Given the description of an element on the screen output the (x, y) to click on. 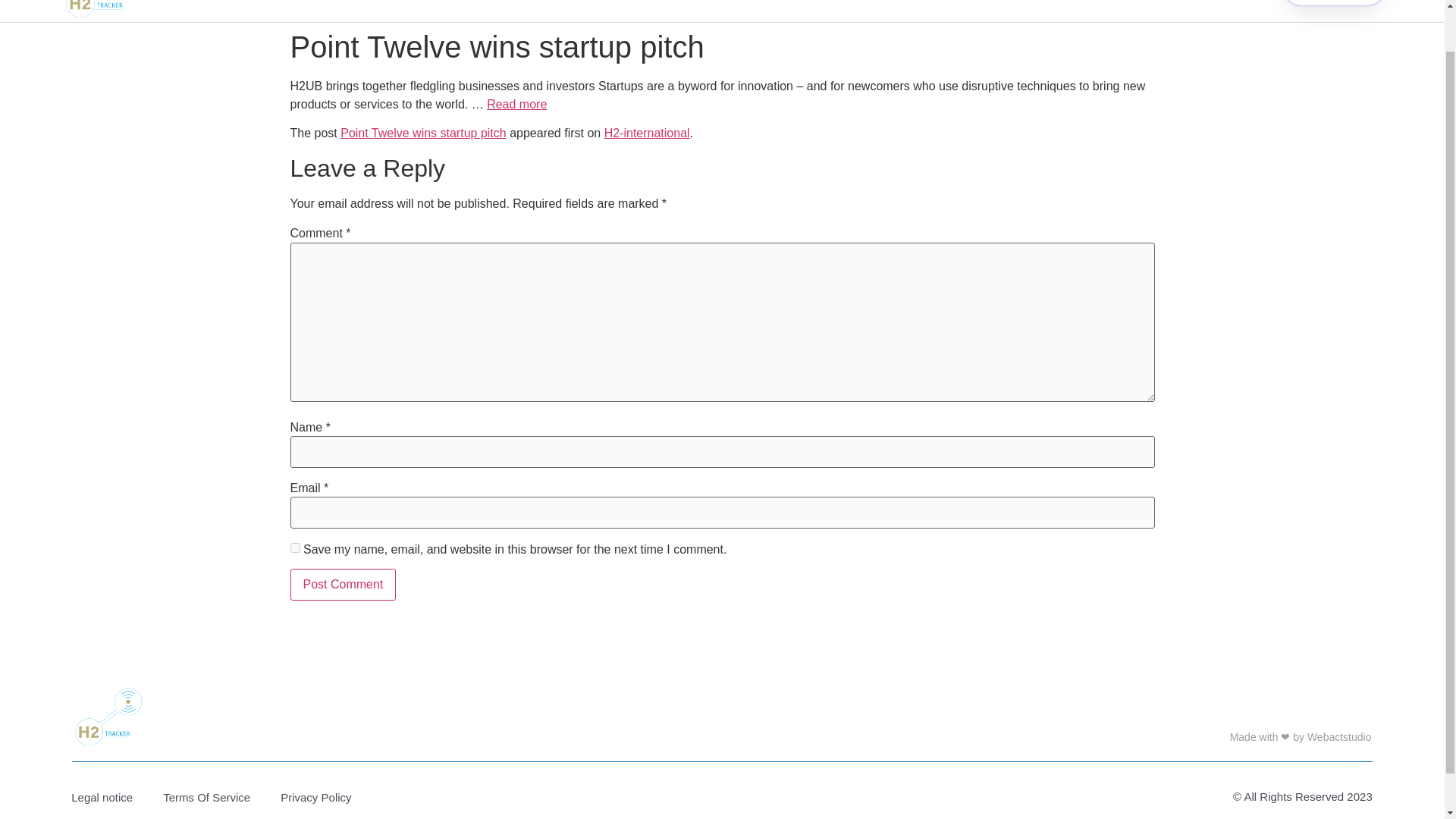
Point Twelve wins startup pitch (422, 132)
yes (294, 547)
Point Twelve wins startup pitch (516, 103)
Projects map (595, 4)
News (690, 4)
Log in (854, 4)
H2-international (647, 132)
Contact (769, 4)
Sign Up (1327, 0)
Post Comment (342, 584)
